Given the description of an element on the screen output the (x, y) to click on. 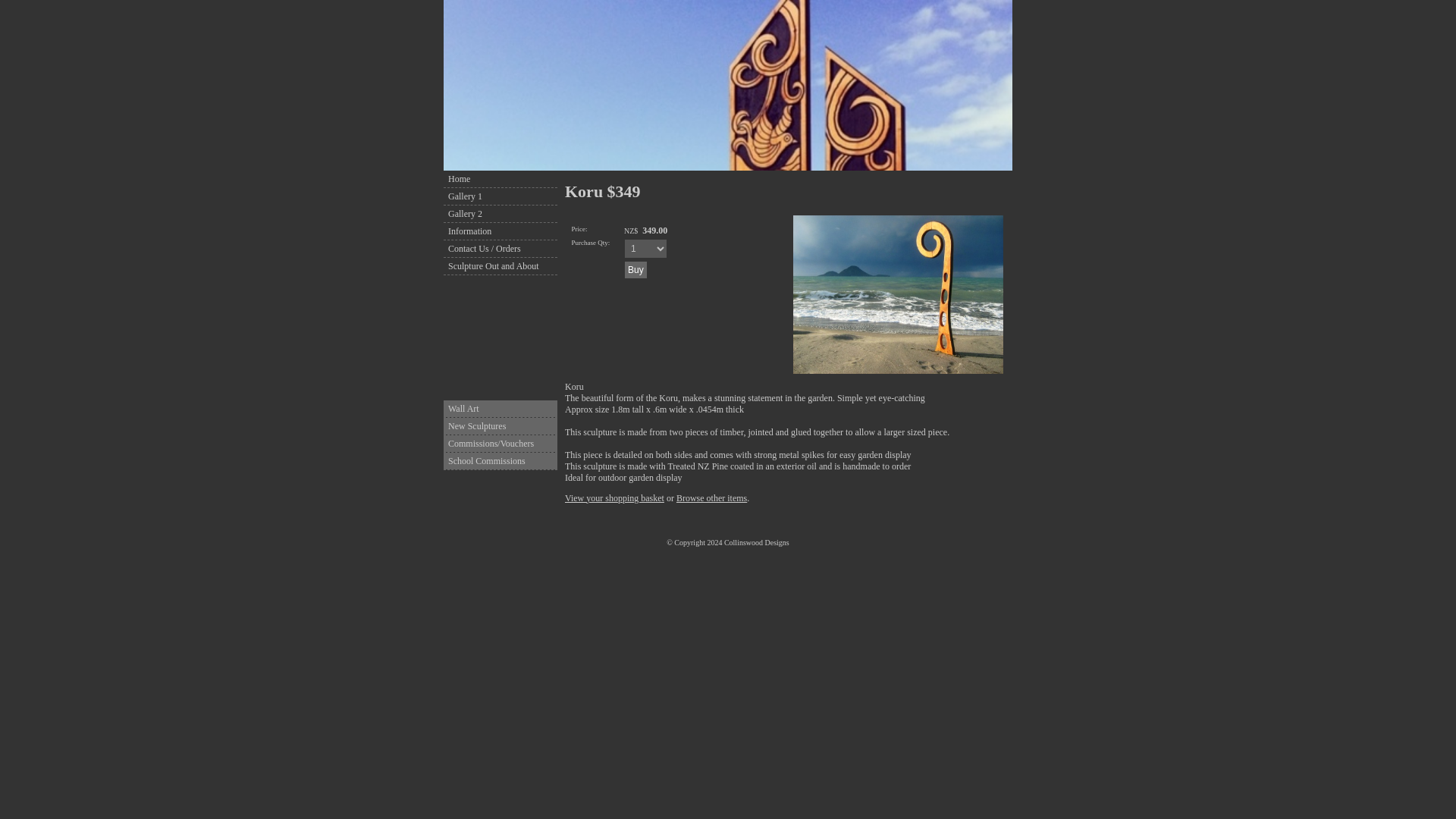
Buy (635, 270)
Gallery 1 (500, 196)
Gallery 2 (500, 213)
Browse other items (711, 498)
Home (500, 178)
New Sculptures (500, 425)
Sculpture Out and About (500, 265)
Collinswood Designs (756, 542)
View your shopping basket (613, 498)
Information (500, 230)
